Given the description of an element on the screen output the (x, y) to click on. 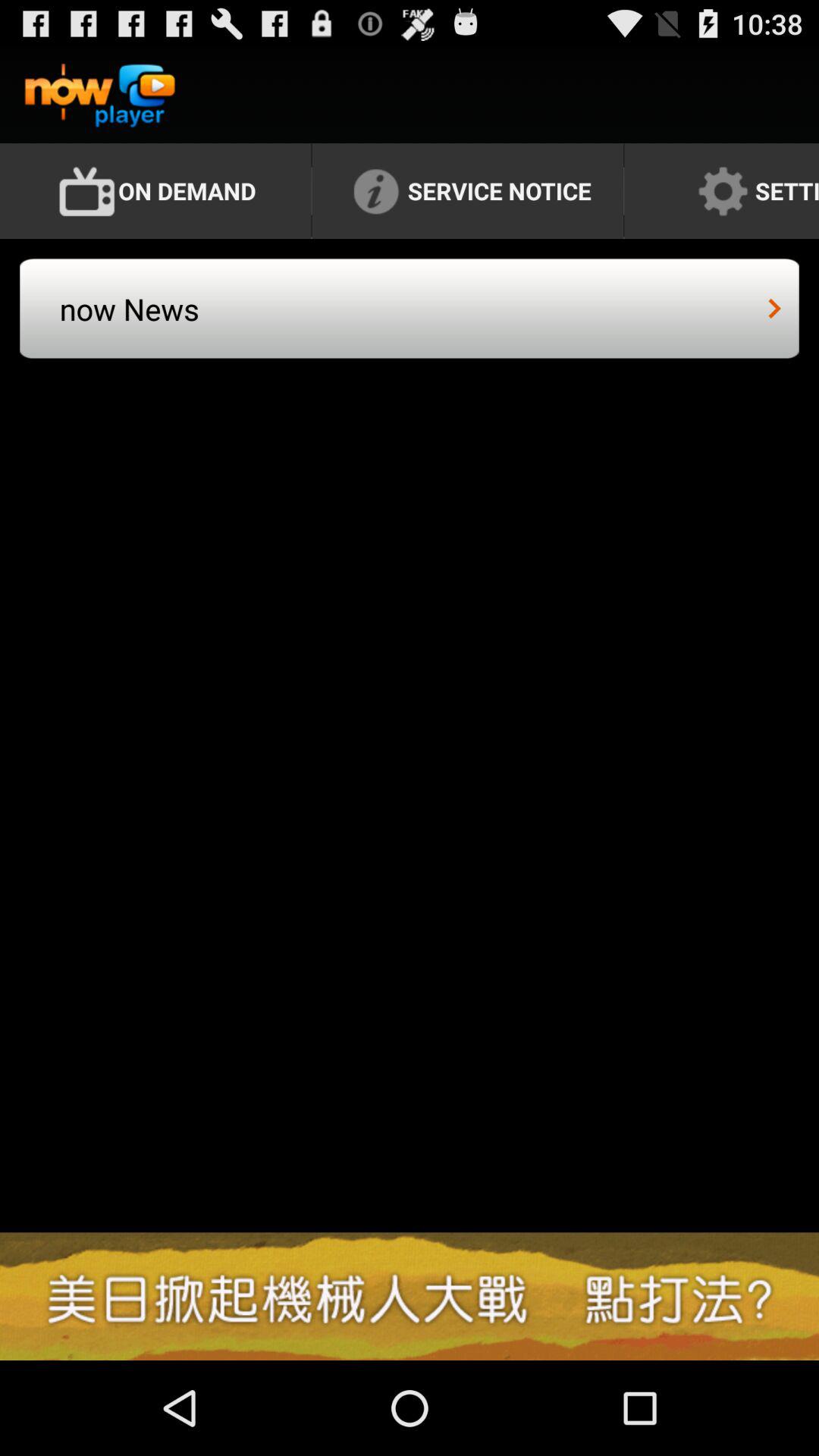
turn off the icon to the right of the now news item (774, 308)
